Given the description of an element on the screen output the (x, y) to click on. 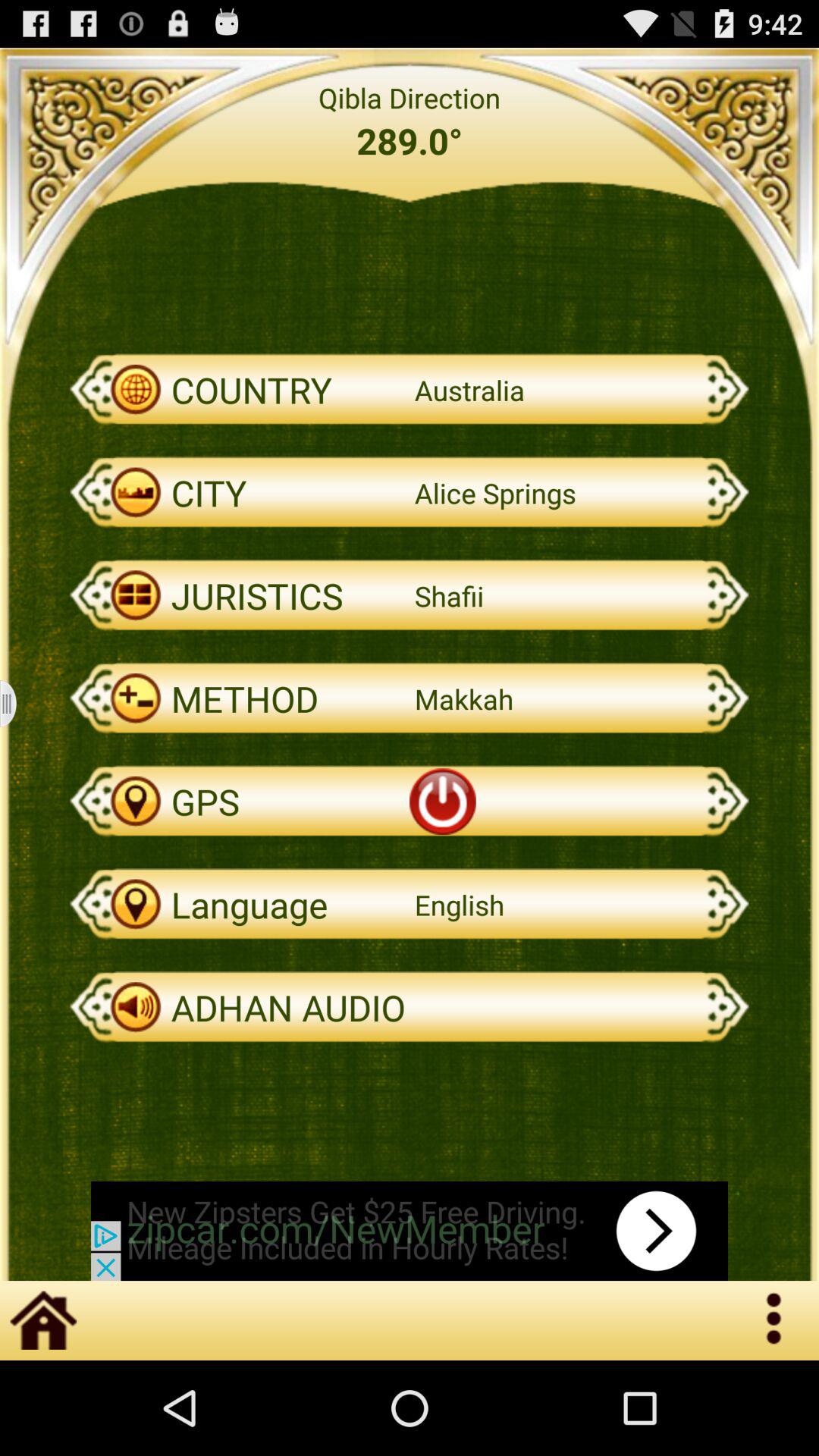
go to advertisement (409, 1230)
